Given the description of an element on the screen output the (x, y) to click on. 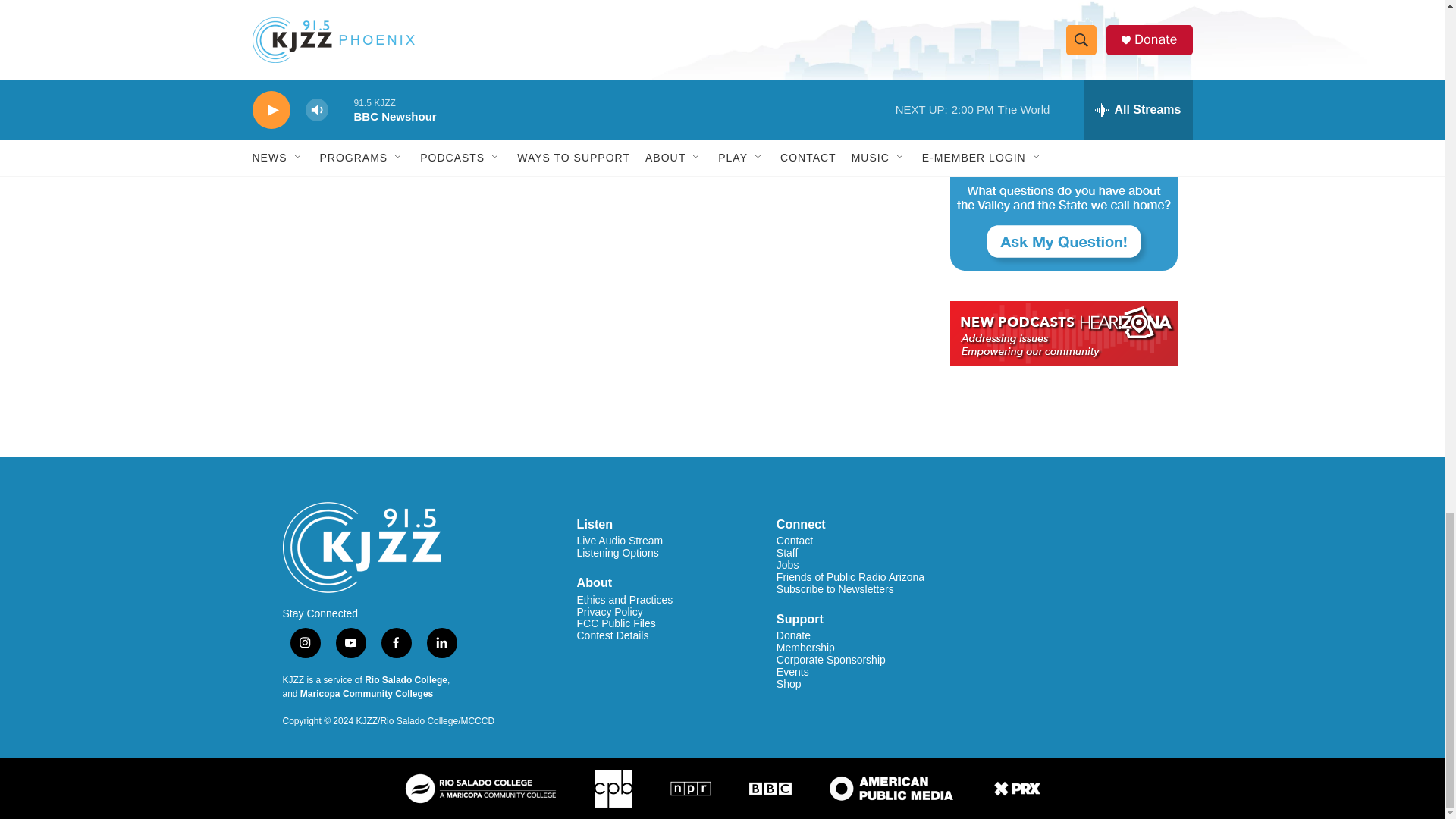
Spot 127 web site (1062, 25)
